Given the description of an element on the screen output the (x, y) to click on. 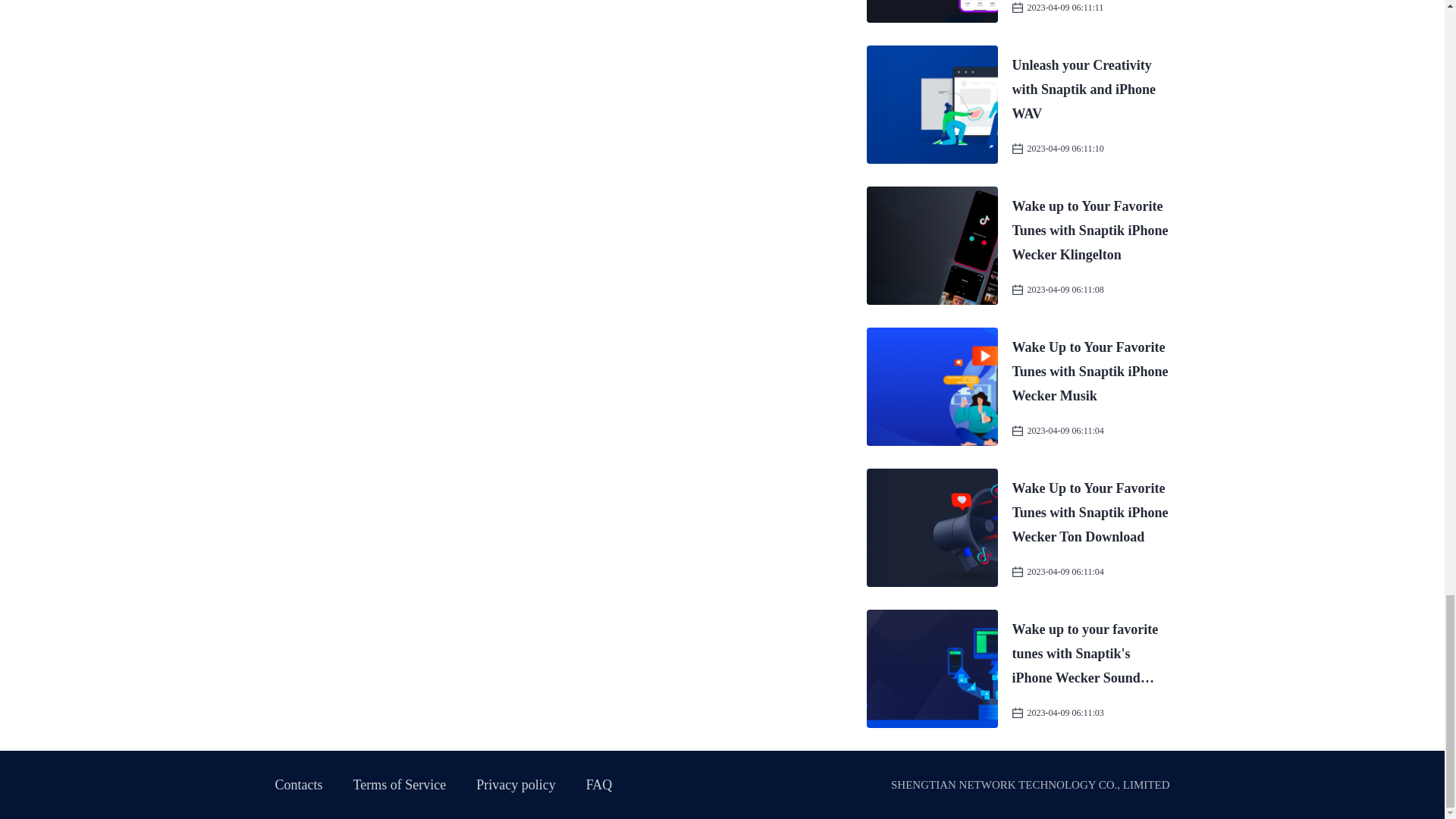
FAQ (599, 784)
Terms of Service (399, 784)
Contacts (298, 784)
Privacy policy (515, 784)
